Given the description of an element on the screen output the (x, y) to click on. 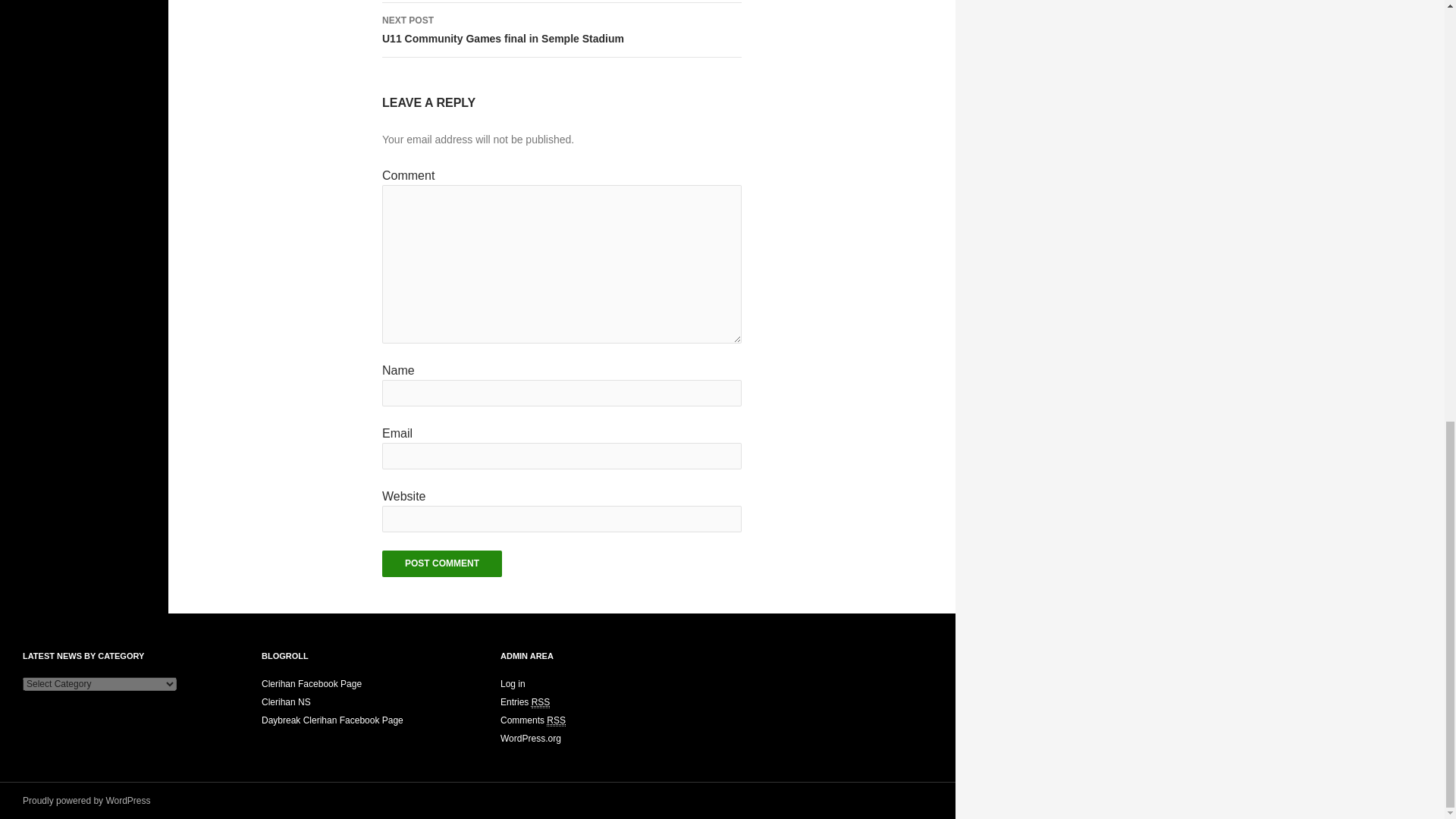
Post Comment (561, 30)
Really Simple Syndication (441, 563)
Post Comment (540, 702)
Clerihan Primary School (441, 563)
